Given the description of an element on the screen output the (x, y) to click on. 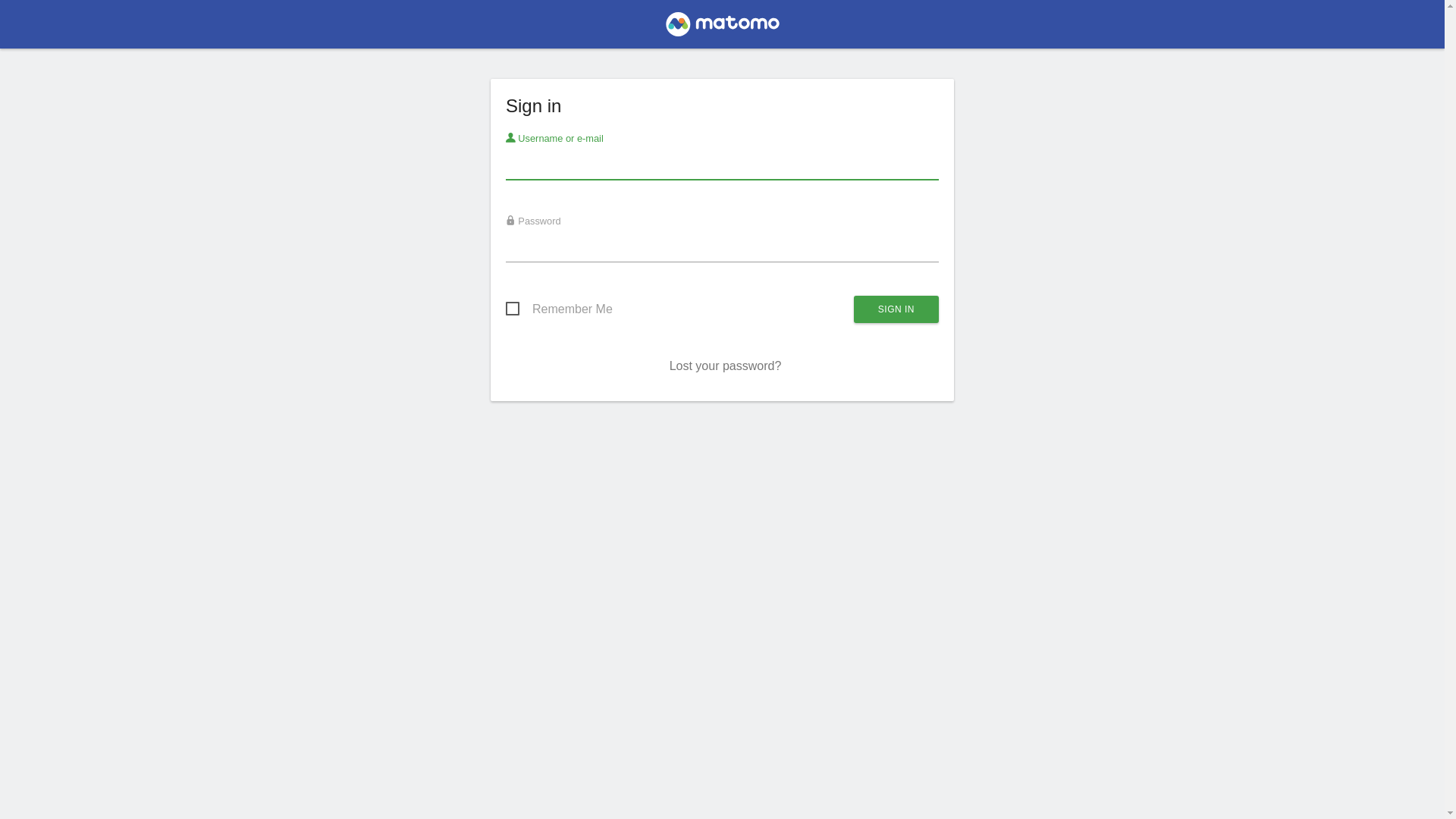
Matomo # free/libre analytics platform Element type: hover (722, 27)
Lost your password? Element type: text (725, 365)
Sign in Element type: text (895, 309)
